Given the description of an element on the screen output the (x, y) to click on. 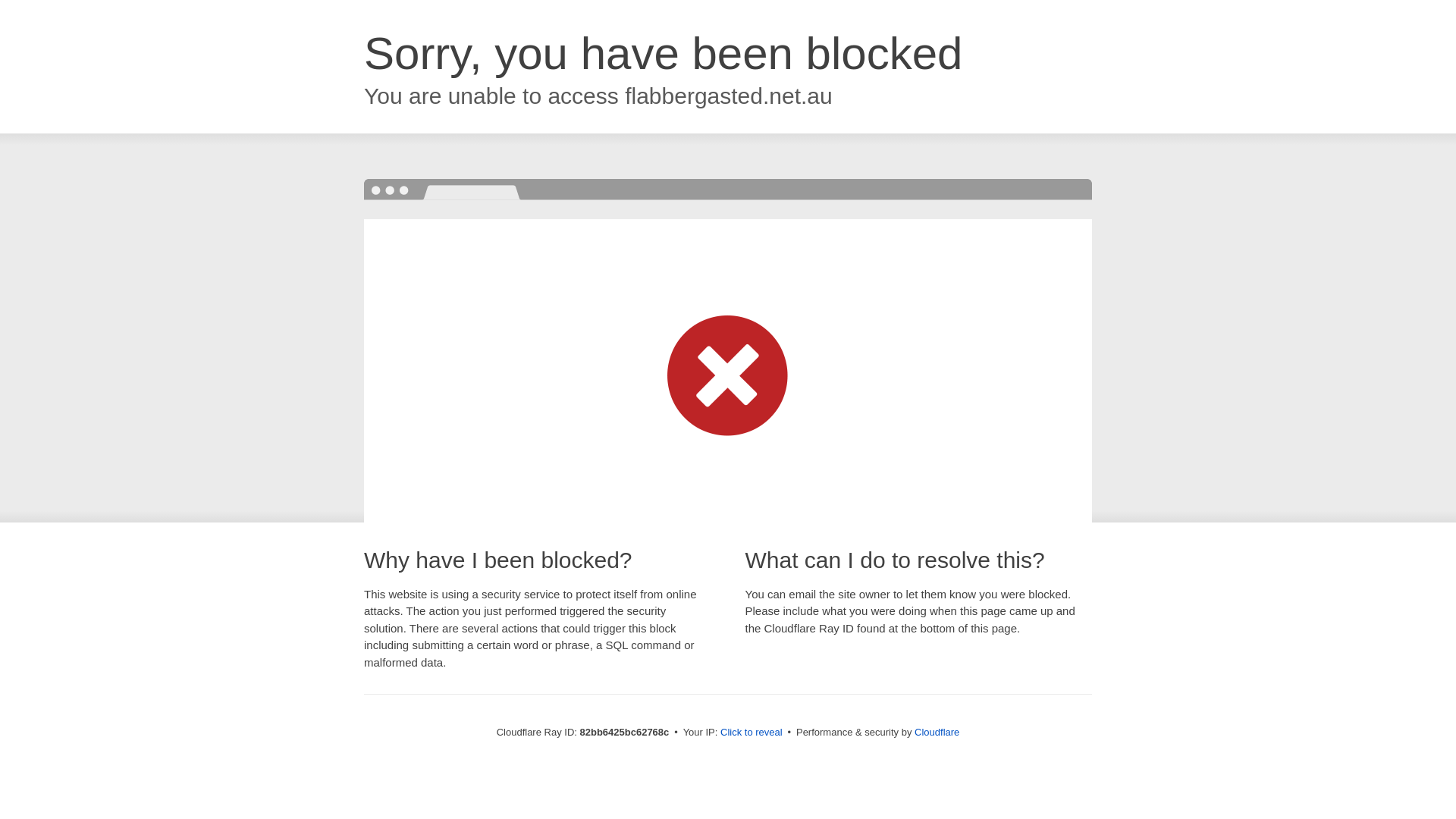
Cloudflare Element type: text (936, 731)
Click to reveal Element type: text (751, 732)
